Given the description of an element on the screen output the (x, y) to click on. 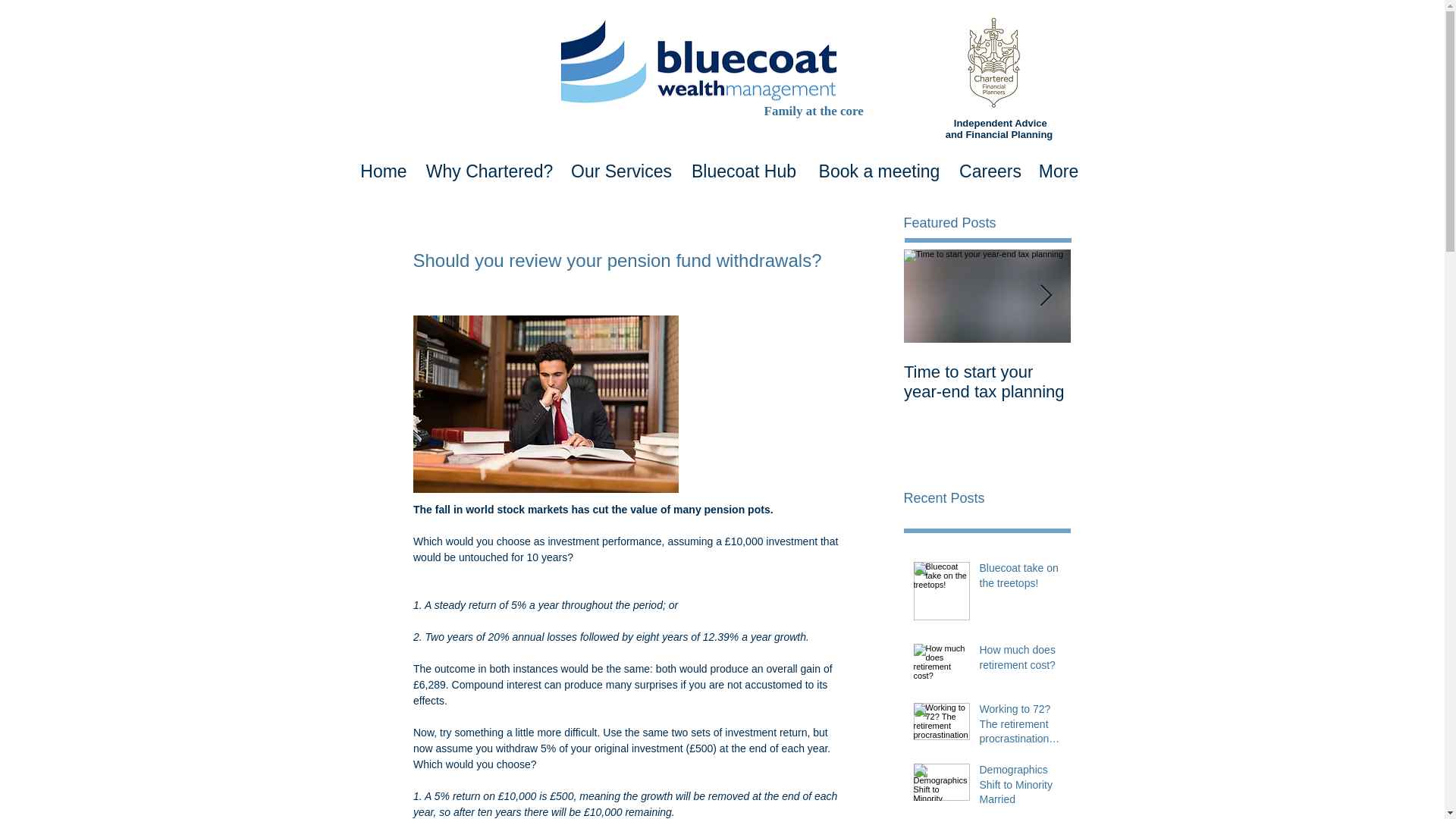
Bluecoat take on the treetops! (1020, 579)
Bluecoat Hub (743, 167)
Living with volatility (1153, 372)
Book a meeting (879, 167)
Time to start your year-end tax planning (987, 382)
Our Services (620, 167)
Why Chartered? (489, 167)
Home (383, 167)
Demographics Shift to Minority Married (1020, 788)
Careers (989, 167)
Working to 72? The retirement procrastination problem (1020, 726)
How much does retirement cost? (1020, 660)
